Given the description of an element on the screen output the (x, y) to click on. 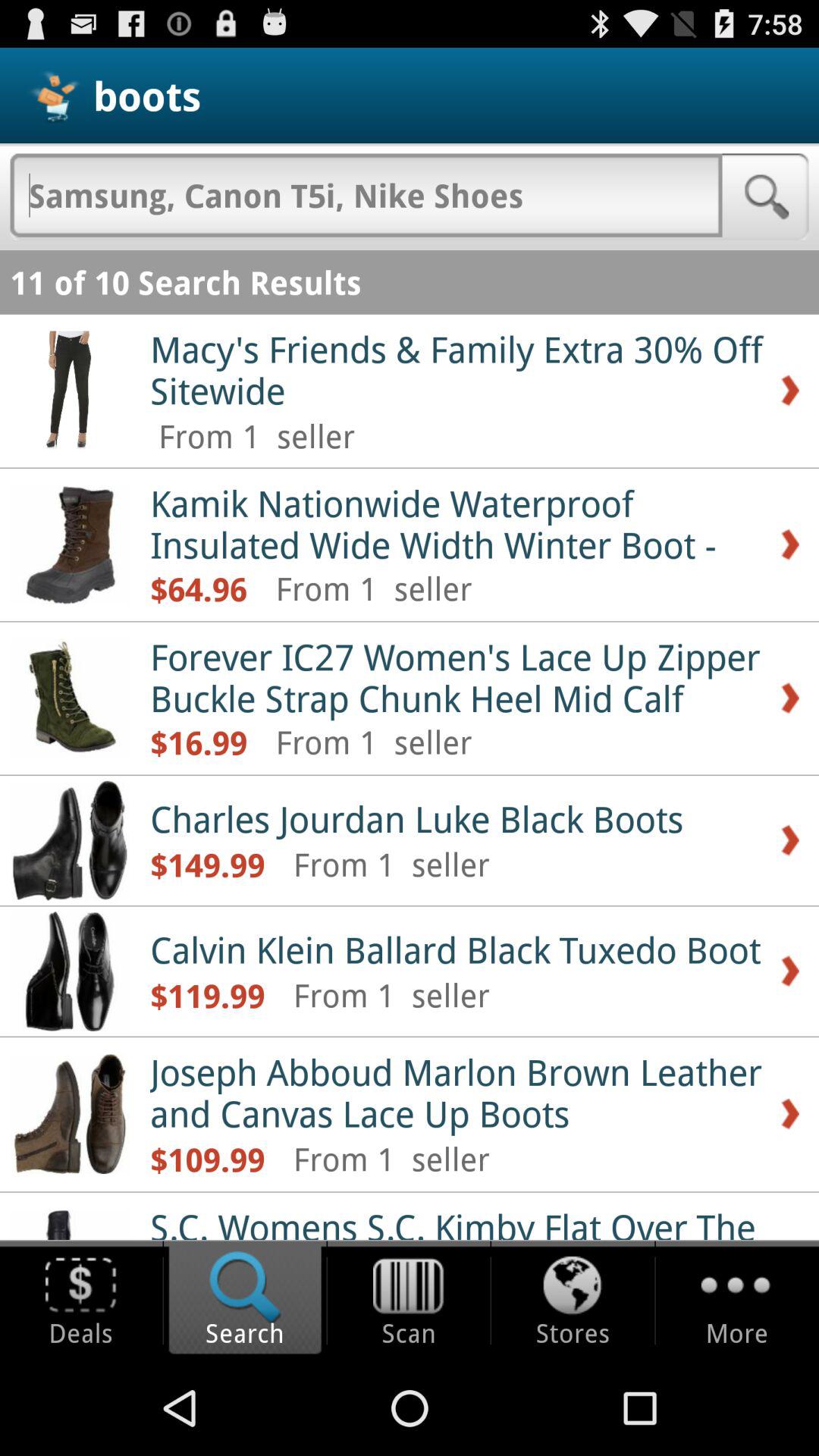
search item (366, 195)
